Given the description of an element on the screen output the (x, y) to click on. 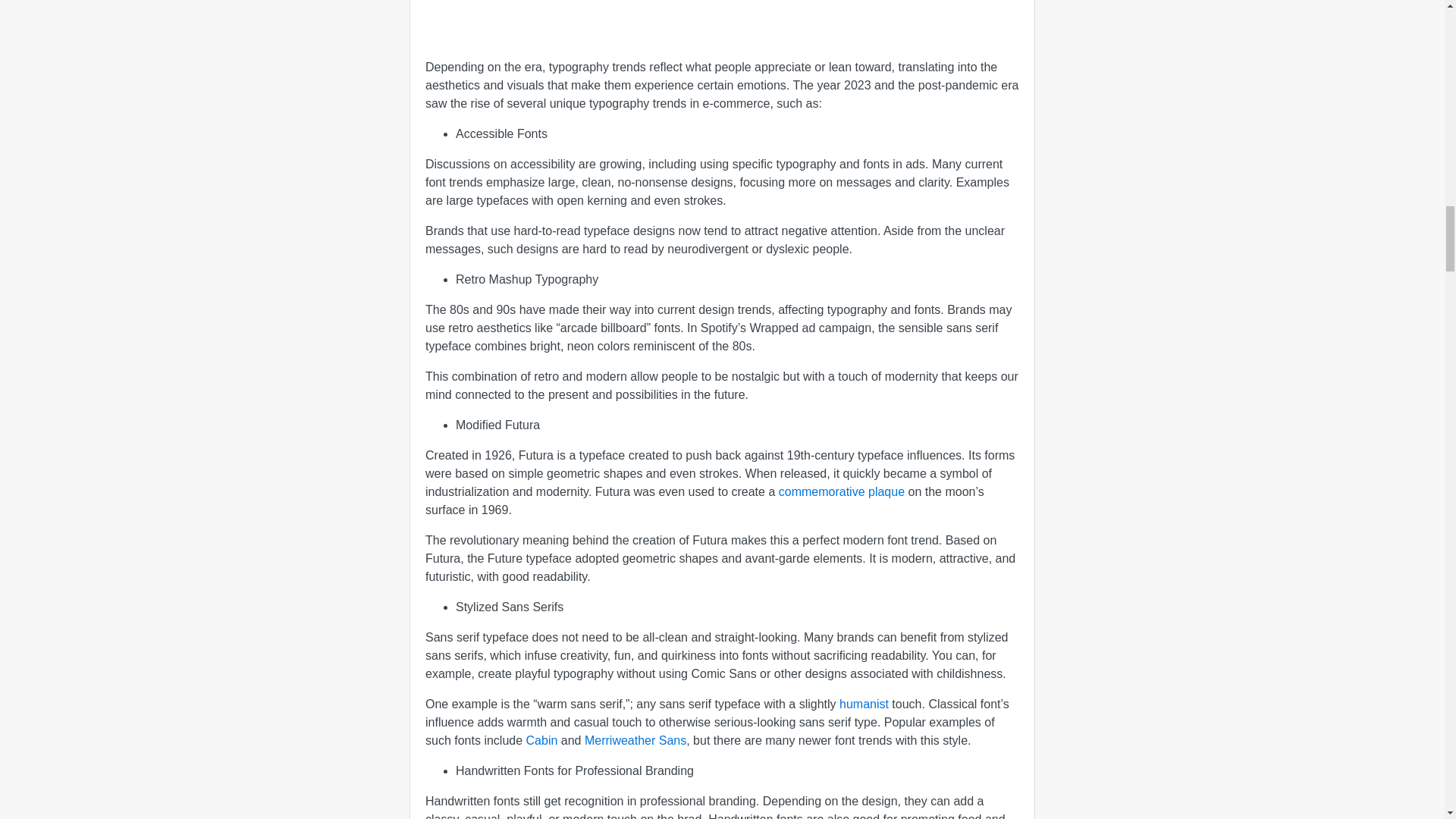
Cabin (541, 739)
commemorative plaque (841, 491)
humanist (864, 703)
